Given the description of an element on the screen output the (x, y) to click on. 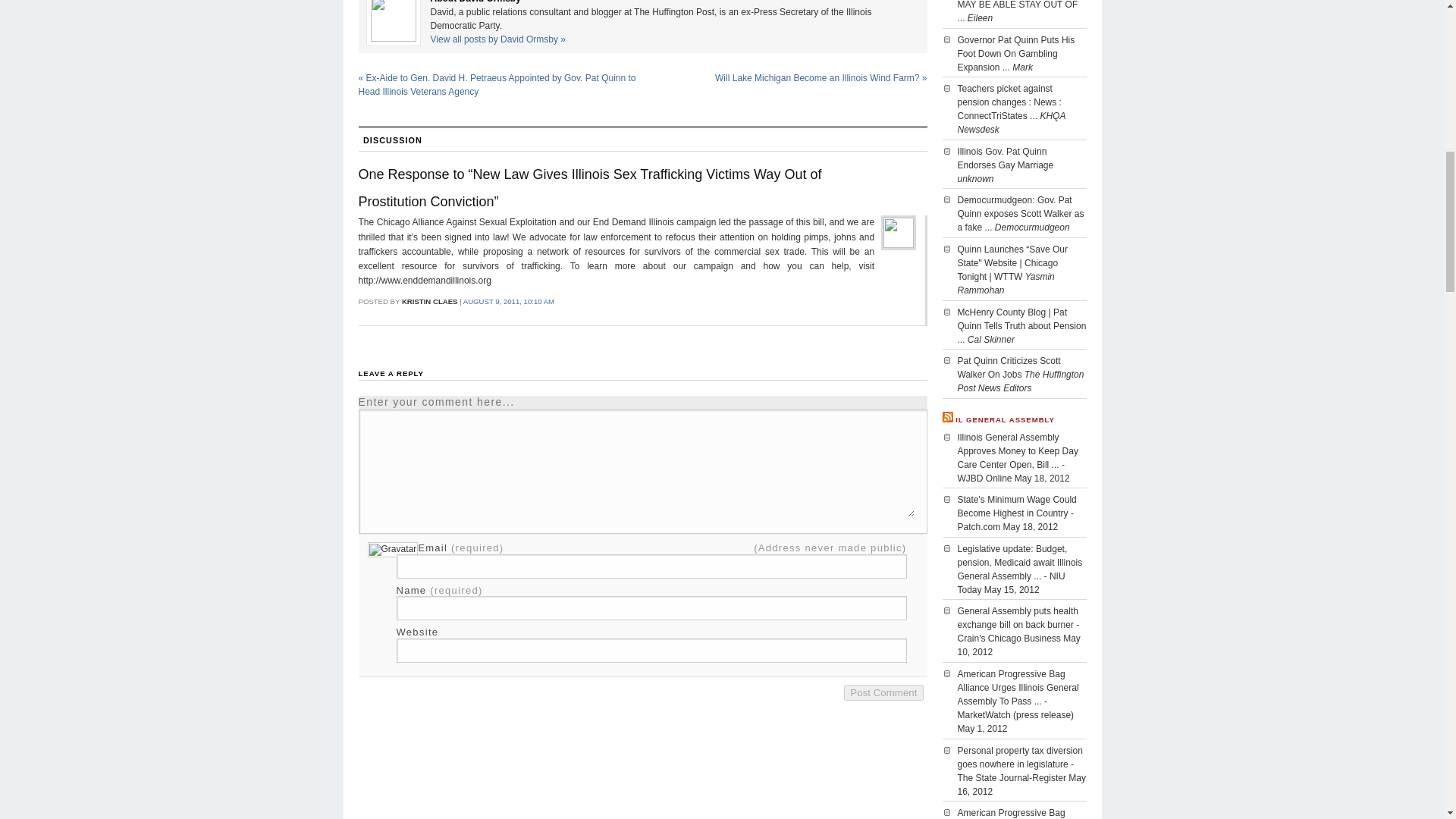
Post Comment (883, 692)
AUGUST 9, 2011, 10:10 AM (508, 301)
Post Comment (883, 692)
